Given the description of an element on the screen output the (x, y) to click on. 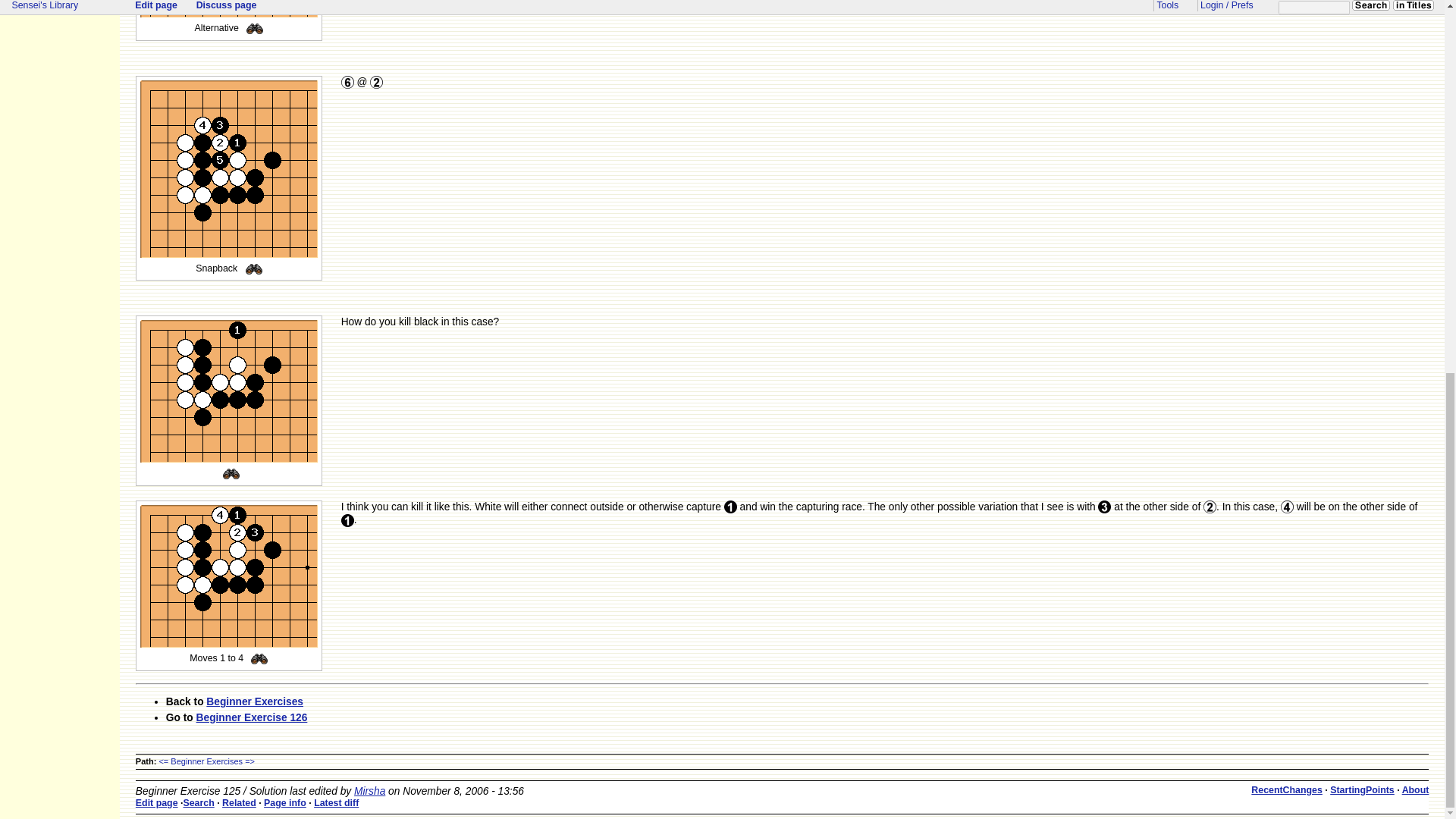
Search (254, 28)
Search position (254, 28)
Beginner Exercises (206, 760)
Search position (231, 474)
Page info (284, 802)
Related (239, 802)
Beginner Exercises (254, 701)
Mirsha (369, 790)
Previous: BeginnerExercise124 (163, 760)
RecentChanges (1286, 789)
